Given the description of an element on the screen output the (x, y) to click on. 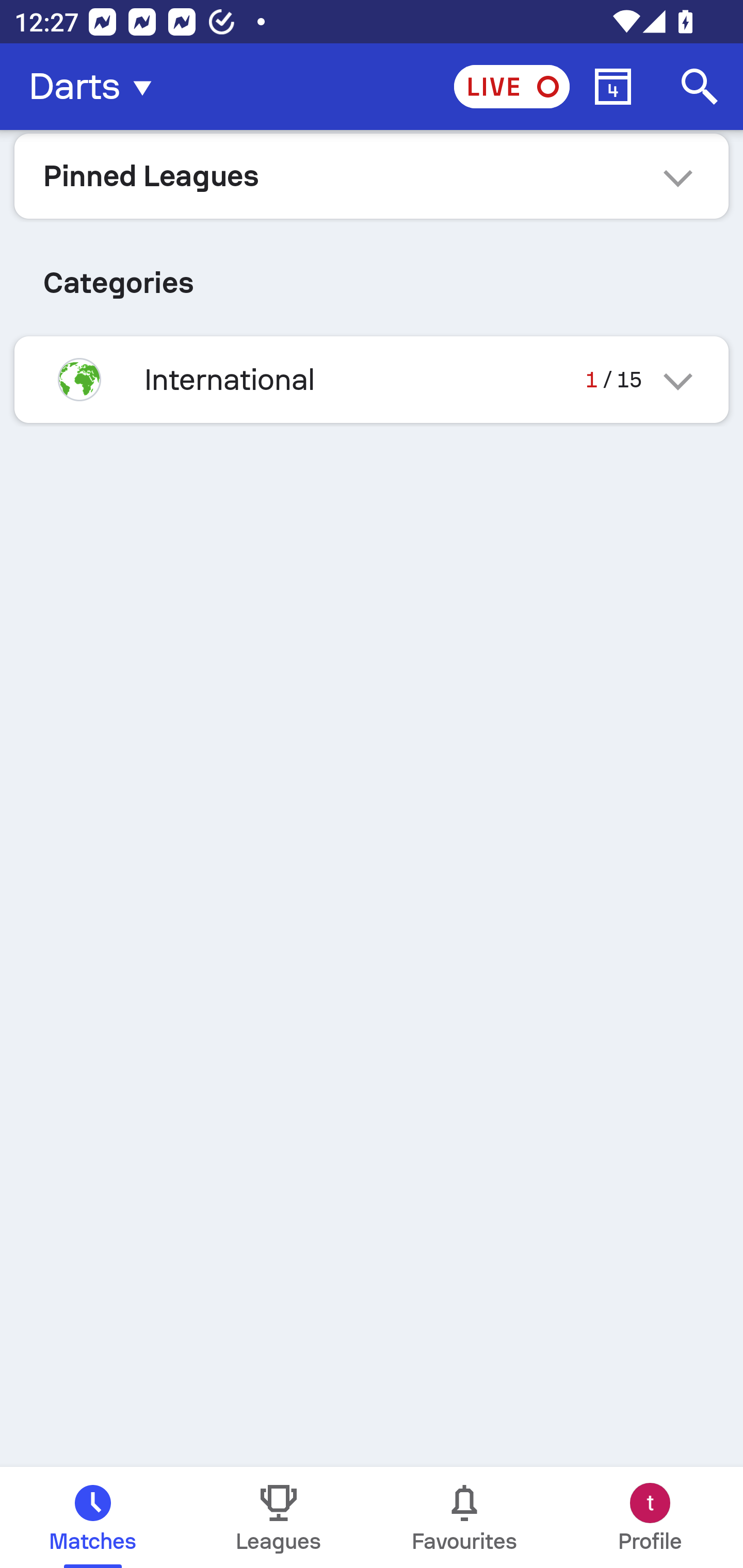
Darts (96, 86)
Calendar (612, 86)
Search (699, 86)
Pinned Leagues (371, 175)
Categories (371, 275)
International 1 / 15 (371, 379)
Leagues (278, 1517)
Favourites (464, 1517)
Profile (650, 1517)
